Given the description of an element on the screen output the (x, y) to click on. 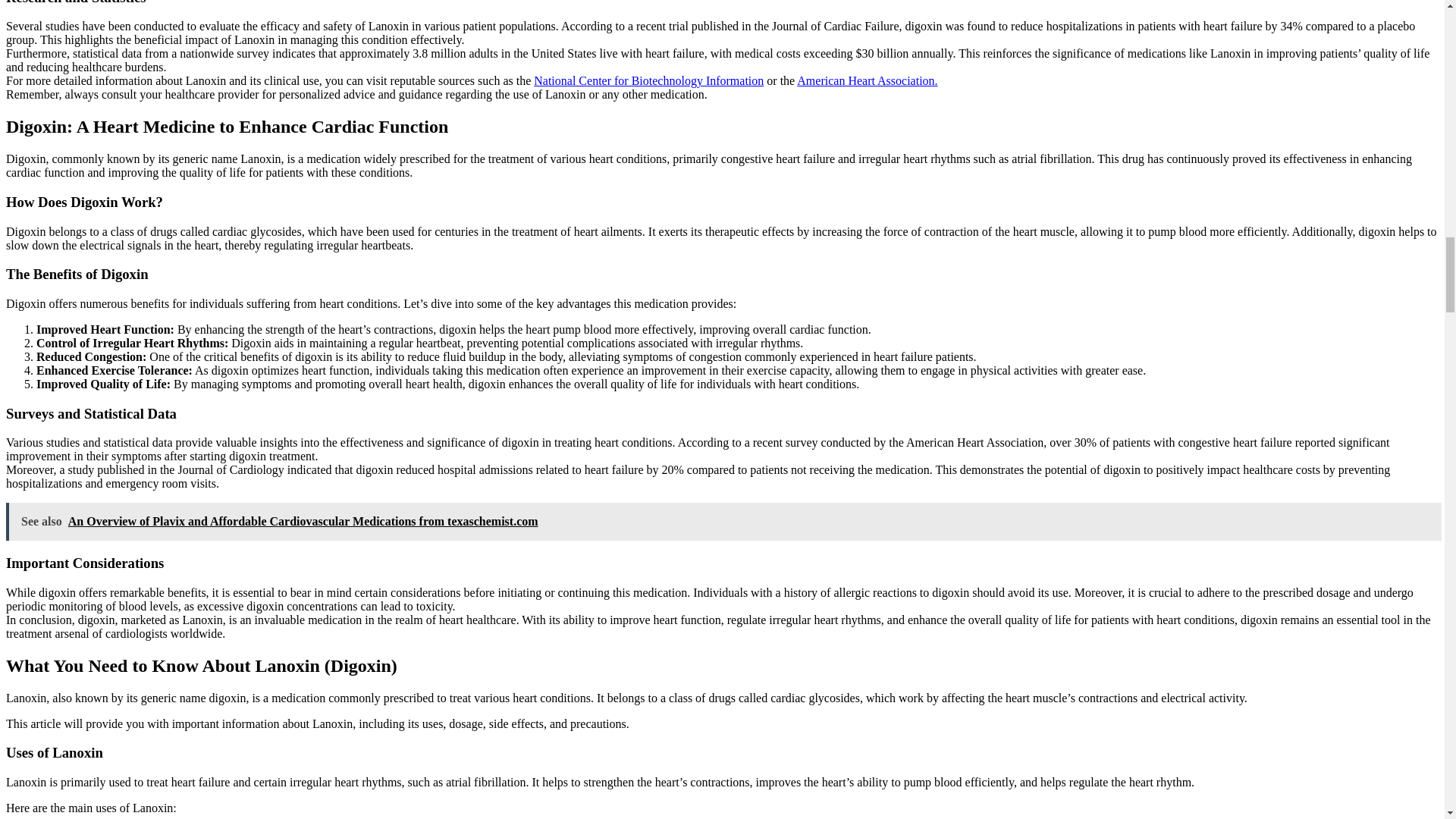
National Center for Biotechnology Information (648, 80)
American Heart Association. (866, 80)
